Given the description of an element on the screen output the (x, y) to click on. 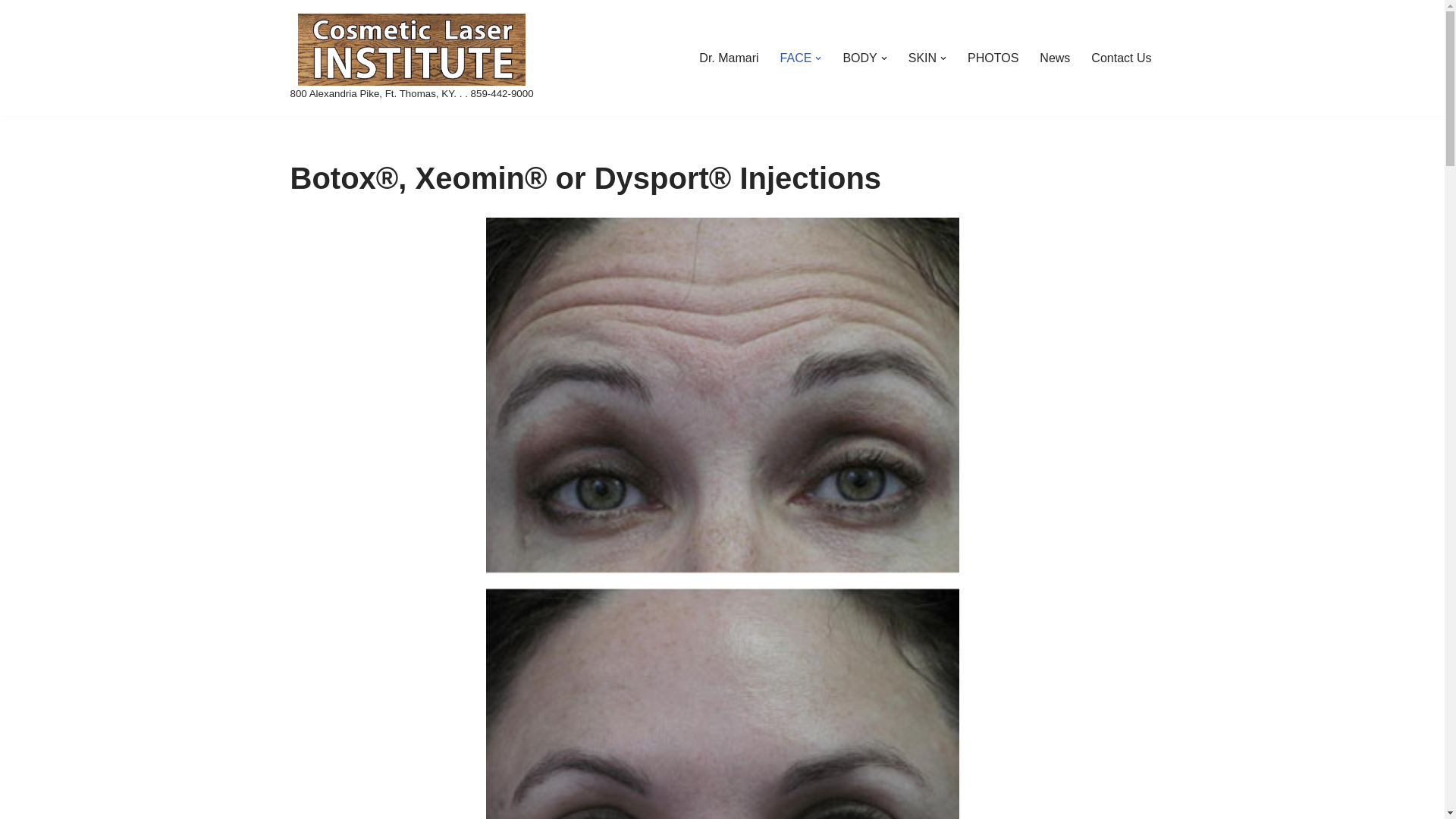
800 Alexandria Pike, Ft. Thomas, KY. . . 859-442-9000 (410, 57)
SKIN (922, 57)
Dr. Mamari (728, 57)
FACE (796, 57)
Skip to content (11, 31)
Contact Us (1120, 57)
News (1054, 57)
BODY (859, 57)
PHOTOS (992, 57)
